Given the description of an element on the screen output the (x, y) to click on. 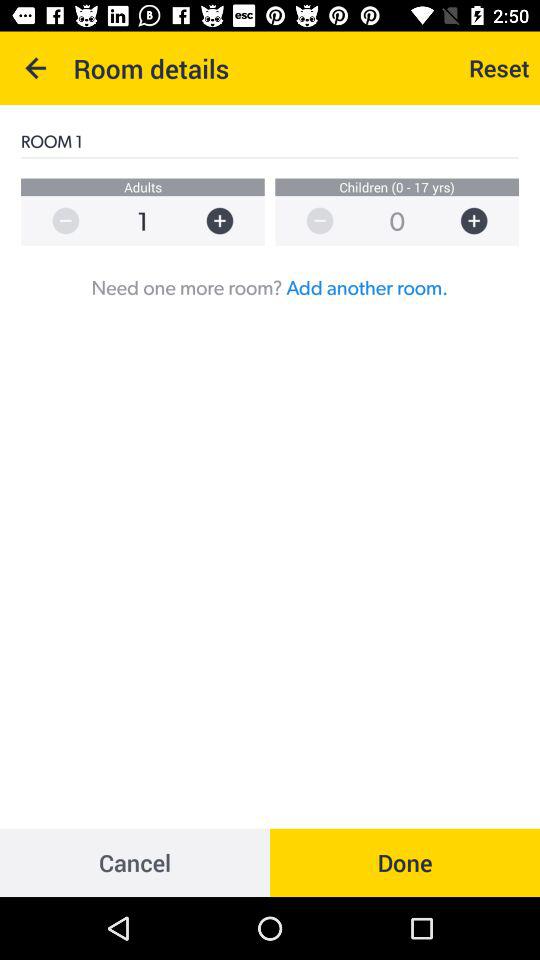
add adults (229, 220)
